Given the description of an element on the screen output the (x, y) to click on. 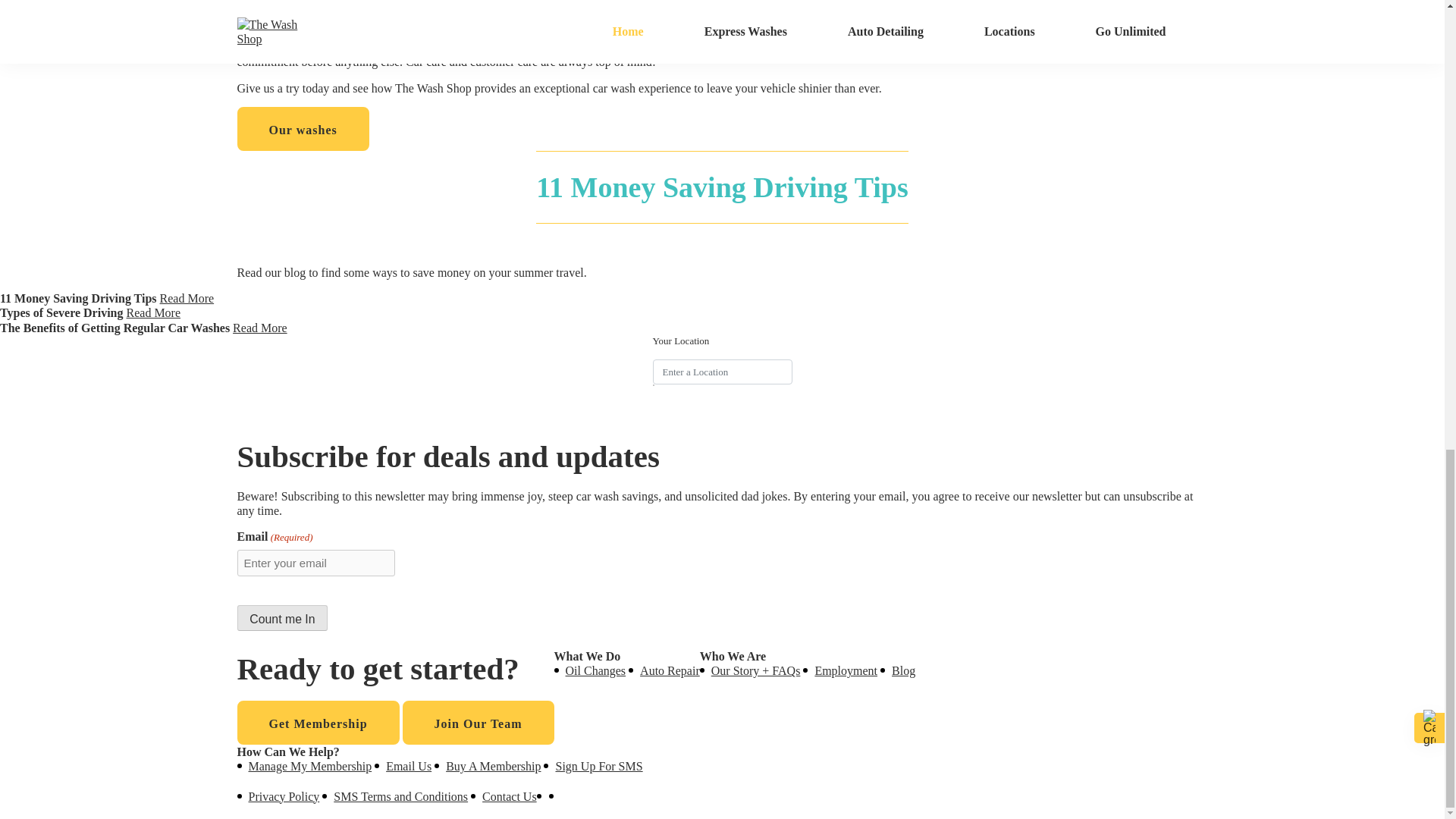
Manage My Membership (310, 766)
Read More (259, 327)
Get Membership (316, 722)
Join Our Team (478, 722)
Read More (152, 312)
Read More (152, 312)
Oil Changes (596, 670)
Employment (845, 670)
Read More (187, 297)
Count me In (281, 617)
